Given the description of an element on the screen output the (x, y) to click on. 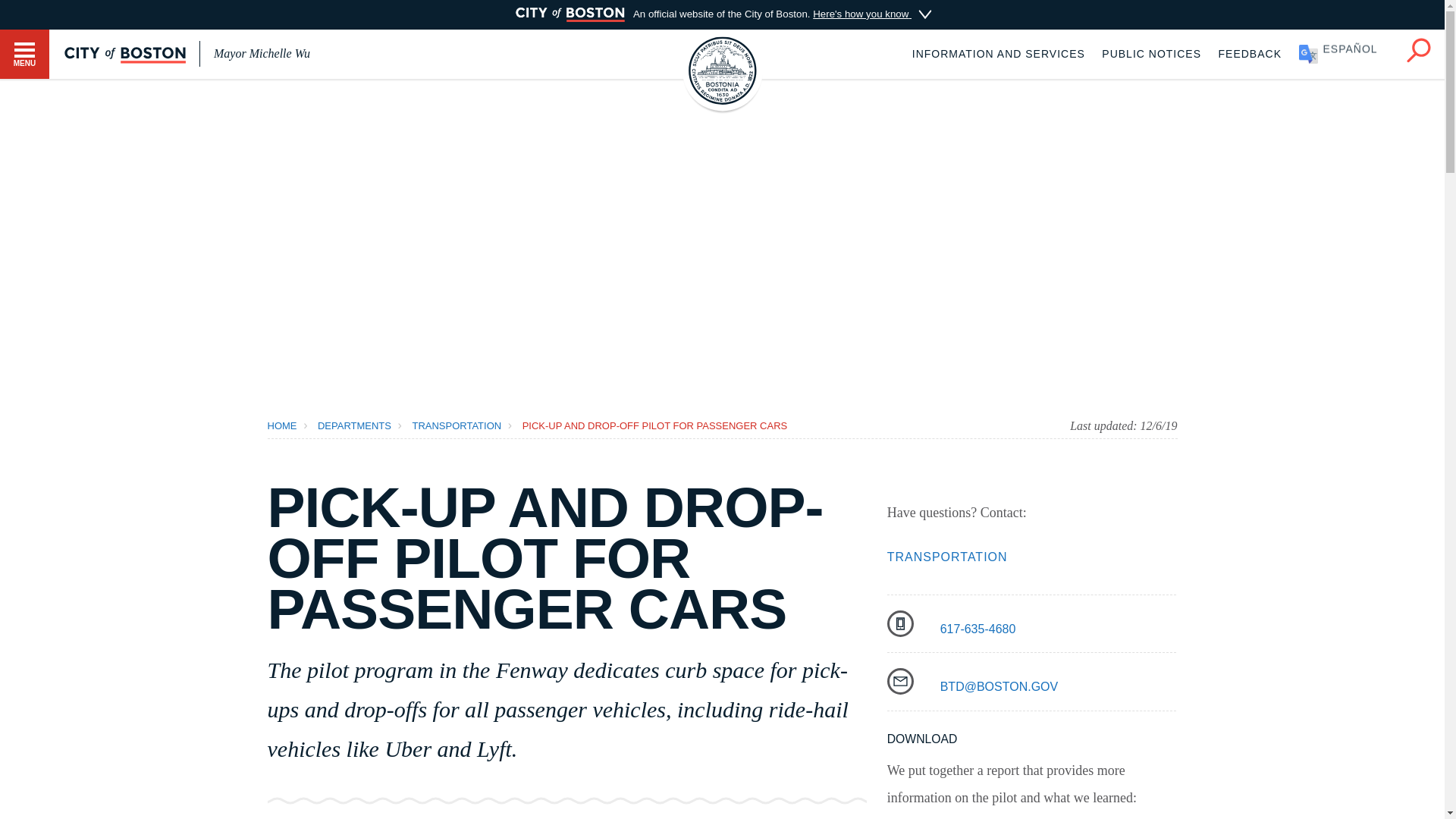
Mayor Michelle Wu (262, 52)
PUBLIC NOTICES (1151, 53)
INFORMATION AND SERVICES (998, 53)
FEEDBACK (1249, 53)
Translate (1343, 53)
Search (1418, 46)
SEARCH (1418, 50)
ENGLISH (1343, 53)
